Given the description of an element on the screen output the (x, y) to click on. 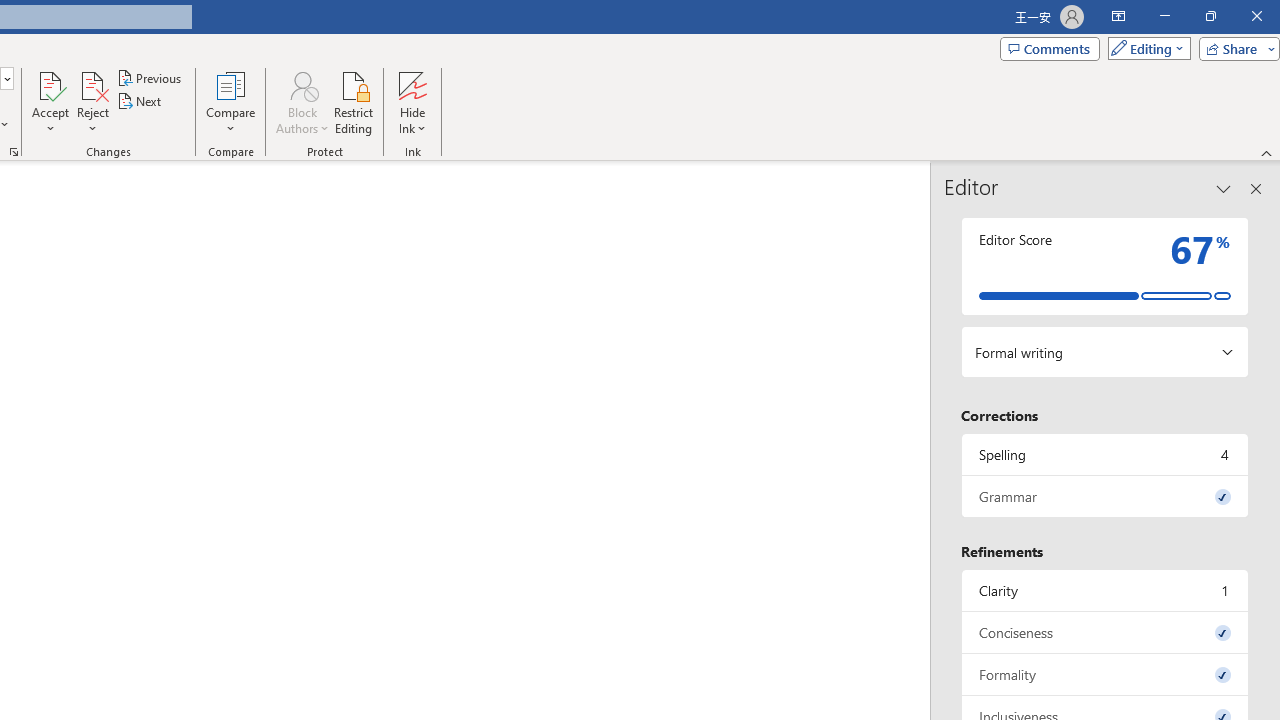
Collapse the Ribbon (1267, 152)
Accept (50, 102)
Compare (230, 102)
Editing (1144, 47)
Close (1256, 16)
Comments (1049, 48)
Ribbon Display Options (1118, 16)
Spelling, 4 issues. Press space or enter to review items. (1105, 454)
Clarity, 1 issue. Press space or enter to review items. (1105, 590)
Next (140, 101)
Block Authors (302, 84)
Previous (150, 78)
Accept and Move to Next (50, 84)
Block Authors (302, 102)
